Given the description of an element on the screen output the (x, y) to click on. 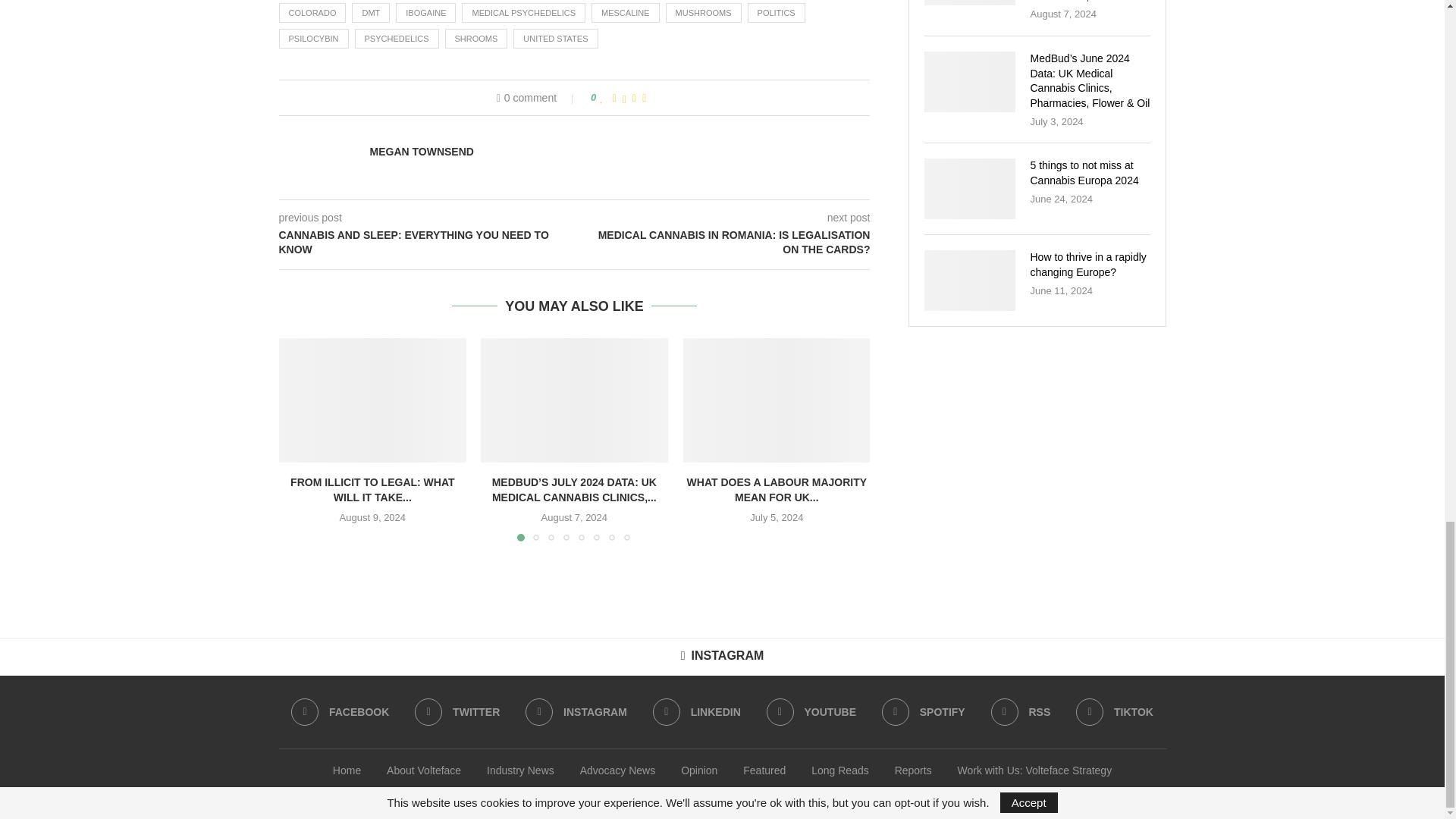
DMT (371, 12)
IBOGAINE (425, 12)
Author Megan Townsend (421, 151)
MEDICAL PSYCHEDELICS (523, 12)
MUSHROOMS (703, 12)
MESCALINE (625, 12)
POLITICS (776, 12)
PSILOCYBIN (314, 38)
What does a Labour majority mean for UK drug policy? (776, 400)
COLORADO (312, 12)
